Given the description of an element on the screen output the (x, y) to click on. 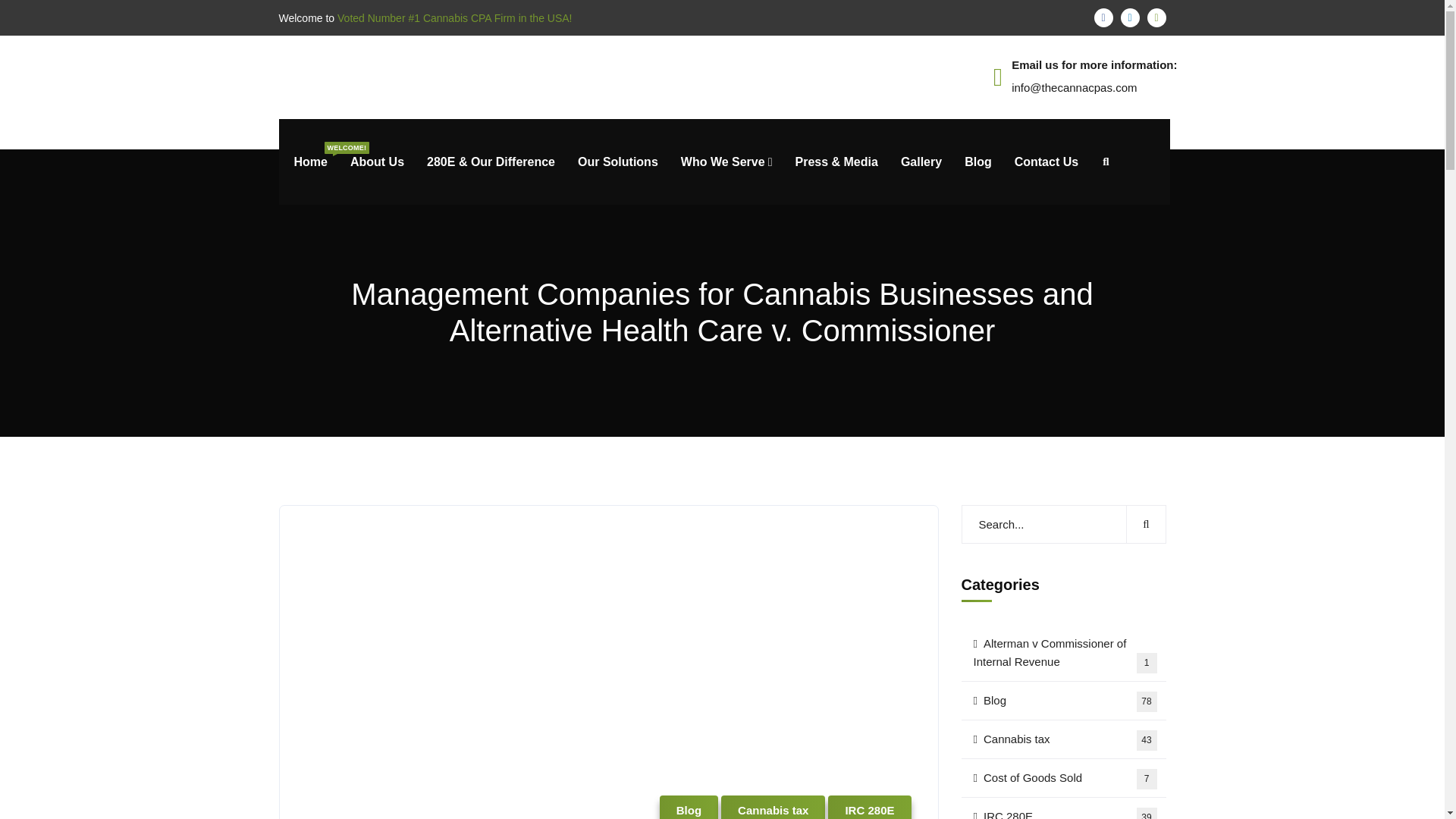
Our Solutions (618, 161)
Who We Serve (727, 161)
About Us (377, 161)
